Given the description of an element on the screen output the (x, y) to click on. 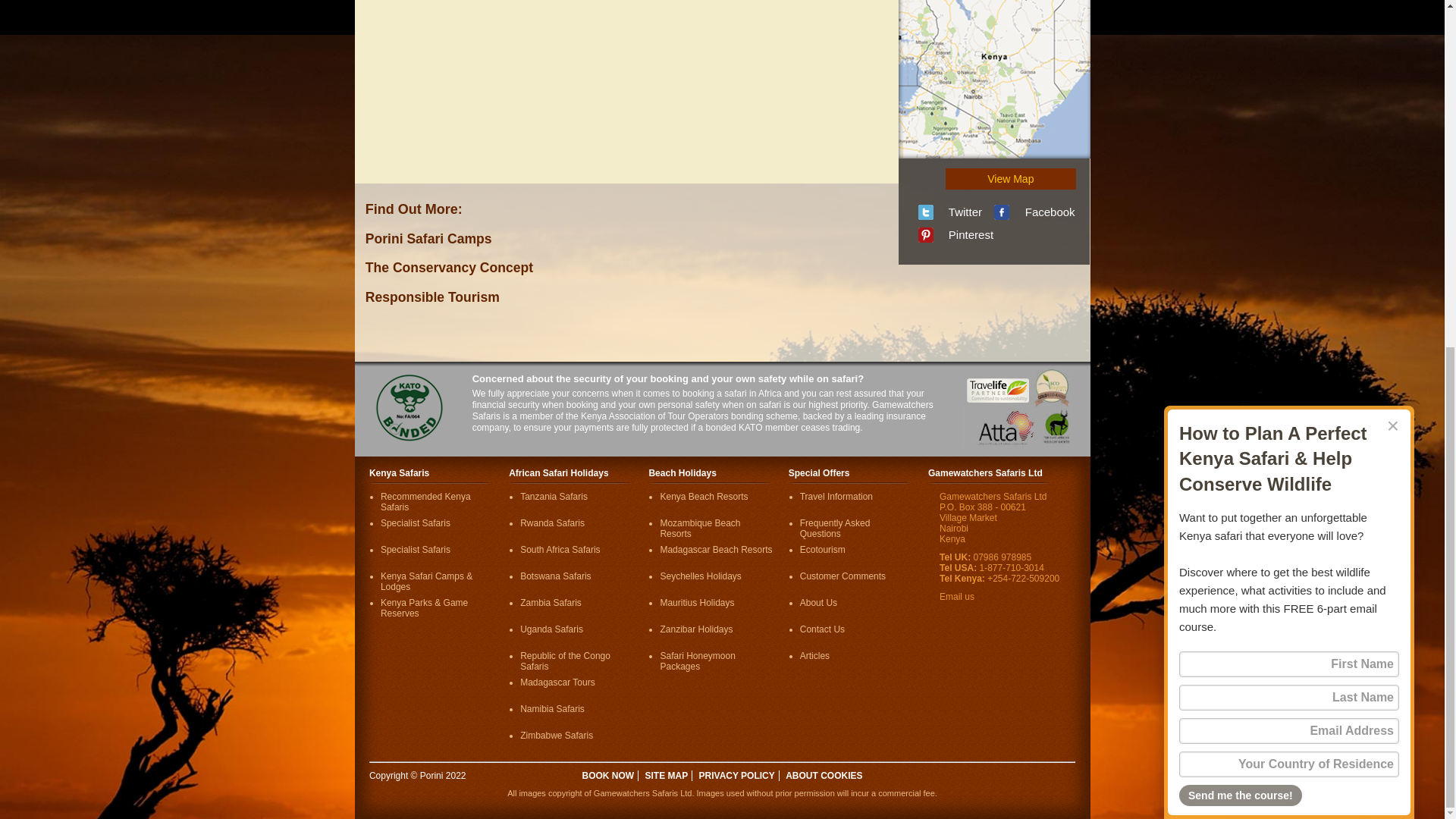
Send me the course! (1240, 198)
